Given the description of an element on the screen output the (x, y) to click on. 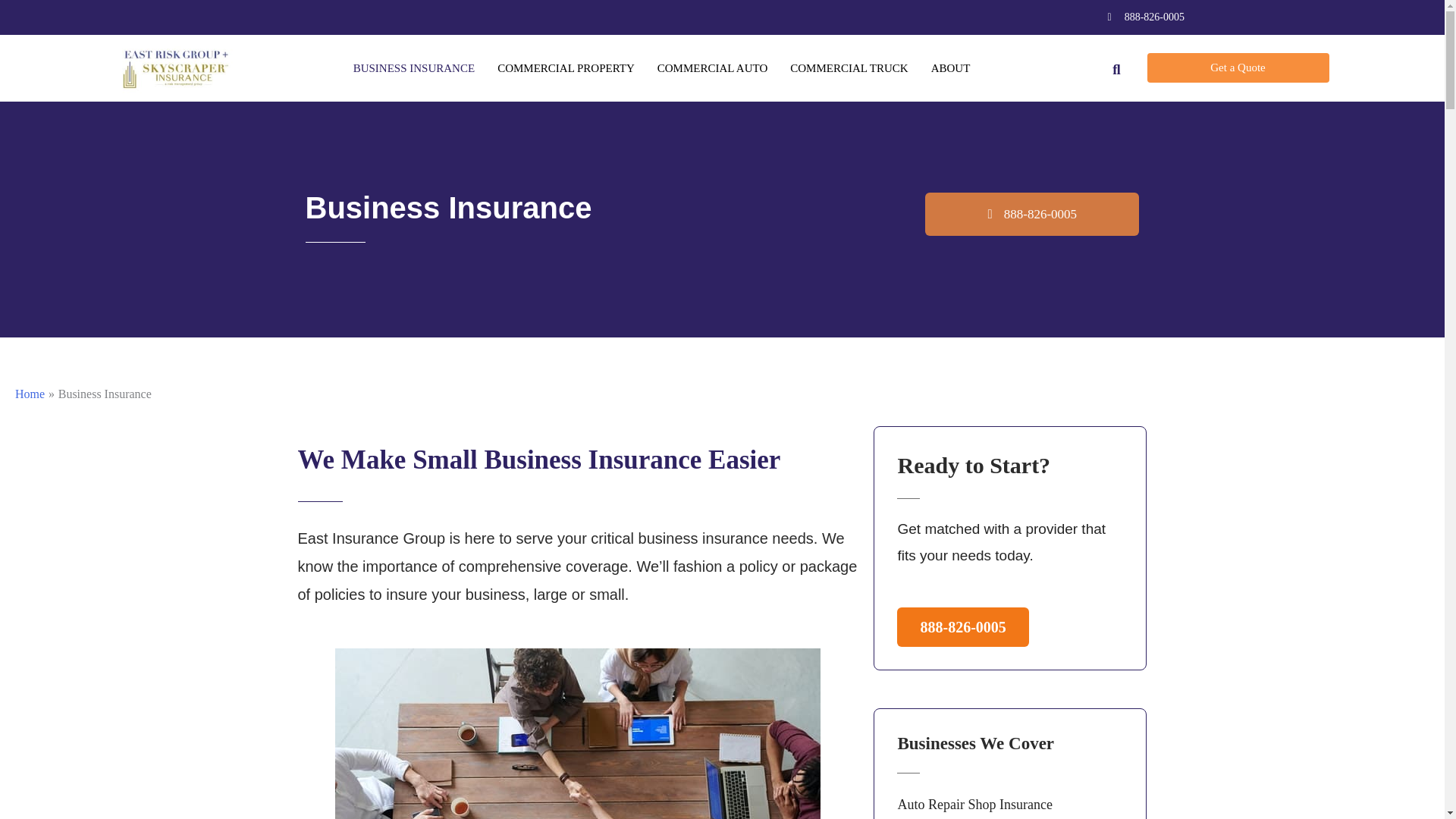
COMMERCIAL PROPERTY (565, 67)
888-826-0005 (1141, 17)
BUSINESS INSURANCE (413, 67)
ABOUT (950, 67)
COMMERCIAL AUTO (711, 67)
COMMERCIAL TRUCK (849, 67)
Business Insurance 1 (577, 733)
